Given the description of an element on the screen output the (x, y) to click on. 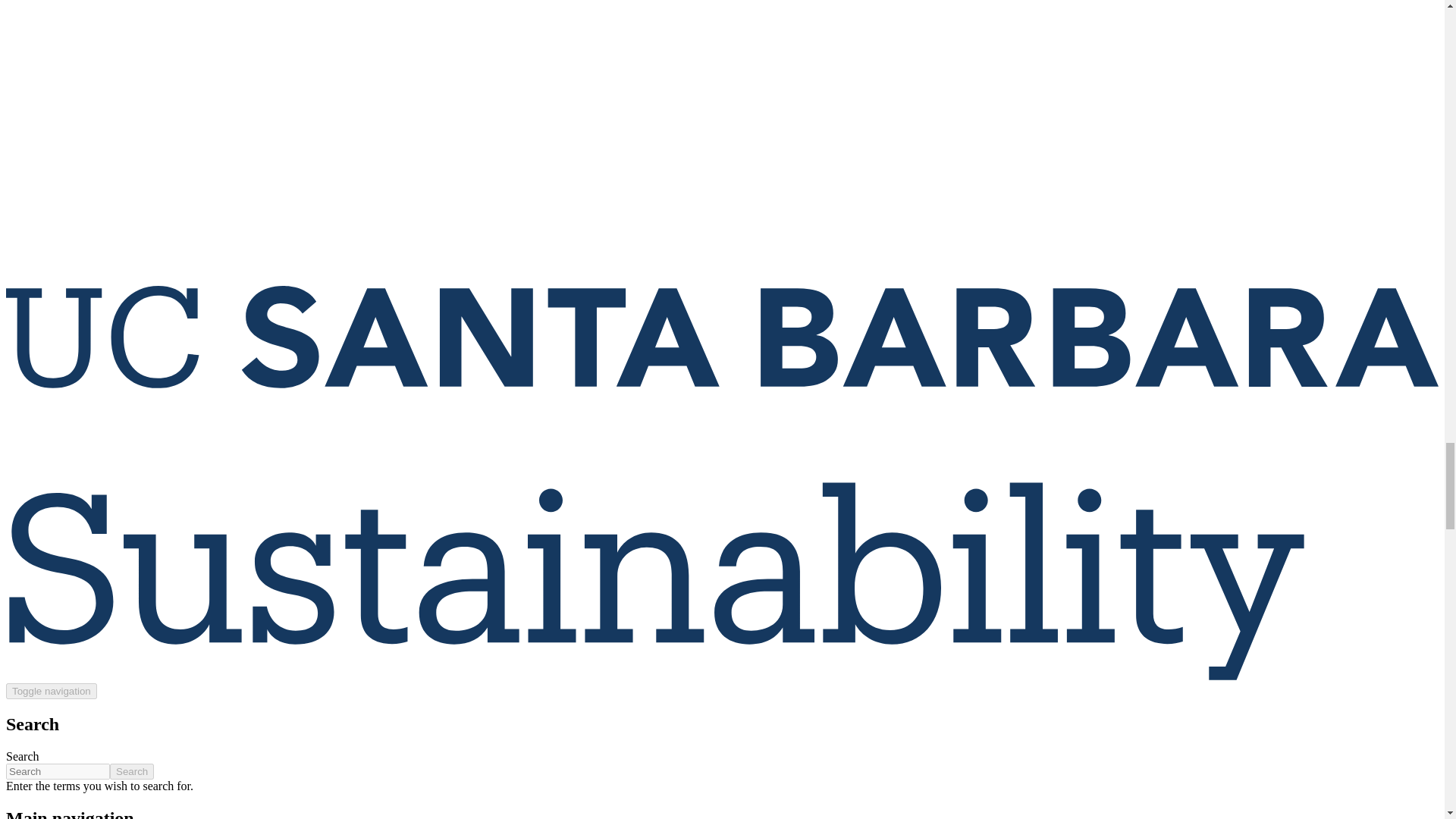
Search (132, 771)
Enter the terms you wish to search for. (57, 771)
Toggle navigation (51, 691)
